Given the description of an element on the screen output the (x, y) to click on. 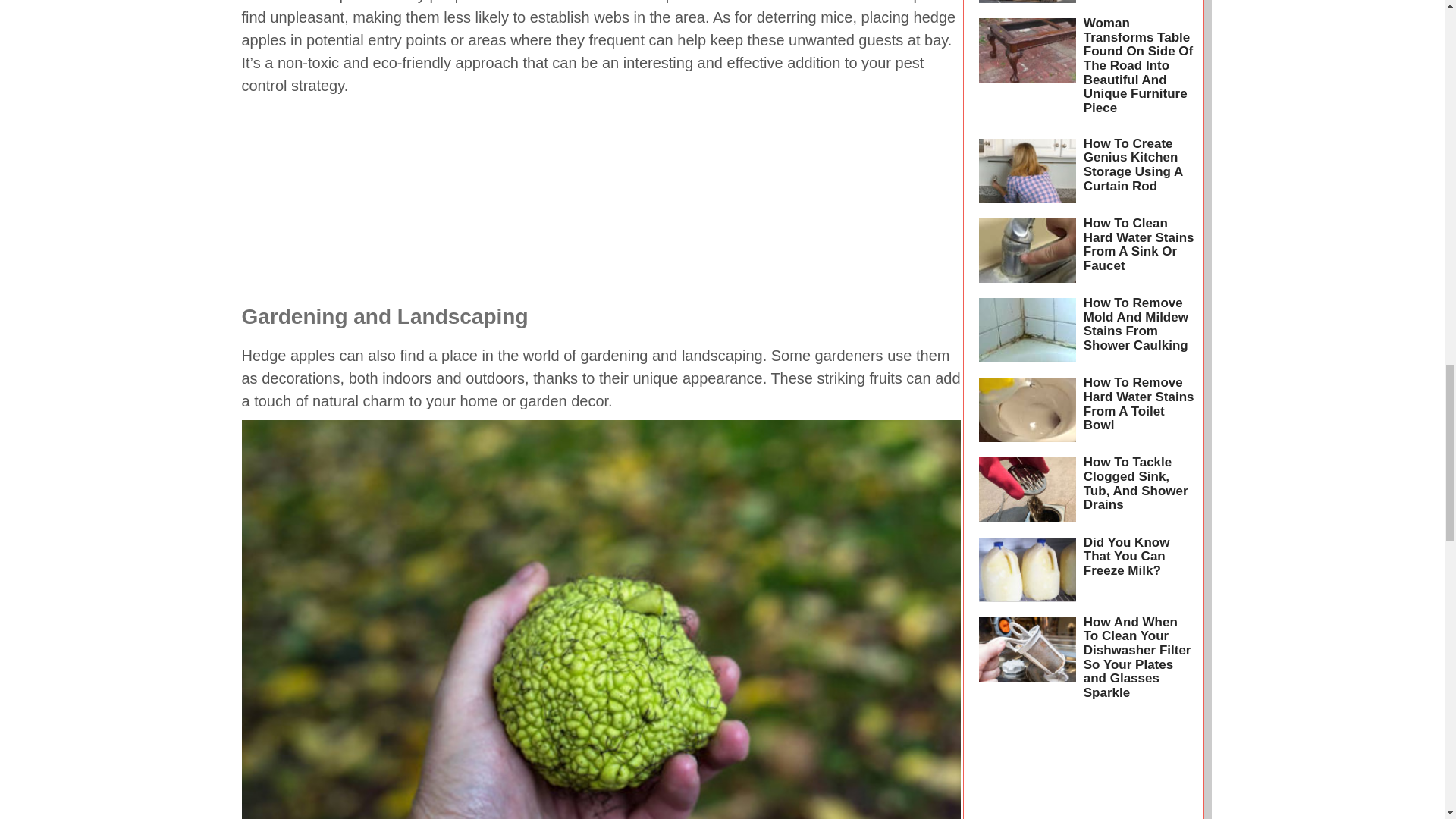
How To Tackle Clogged Sink, Tub, And Shower Drains (1135, 483)
Read more (1027, 5)
Read more (1027, 170)
How To Create Genius Kitchen Storage Using A Curtain Rod (1132, 164)
How To Remove Mold And Mildew Stains From Shower Caulking (1135, 323)
Read more (1027, 250)
Read more (1027, 489)
Read more (1027, 409)
Read more (1027, 70)
